Given the description of an element on the screen output the (x, y) to click on. 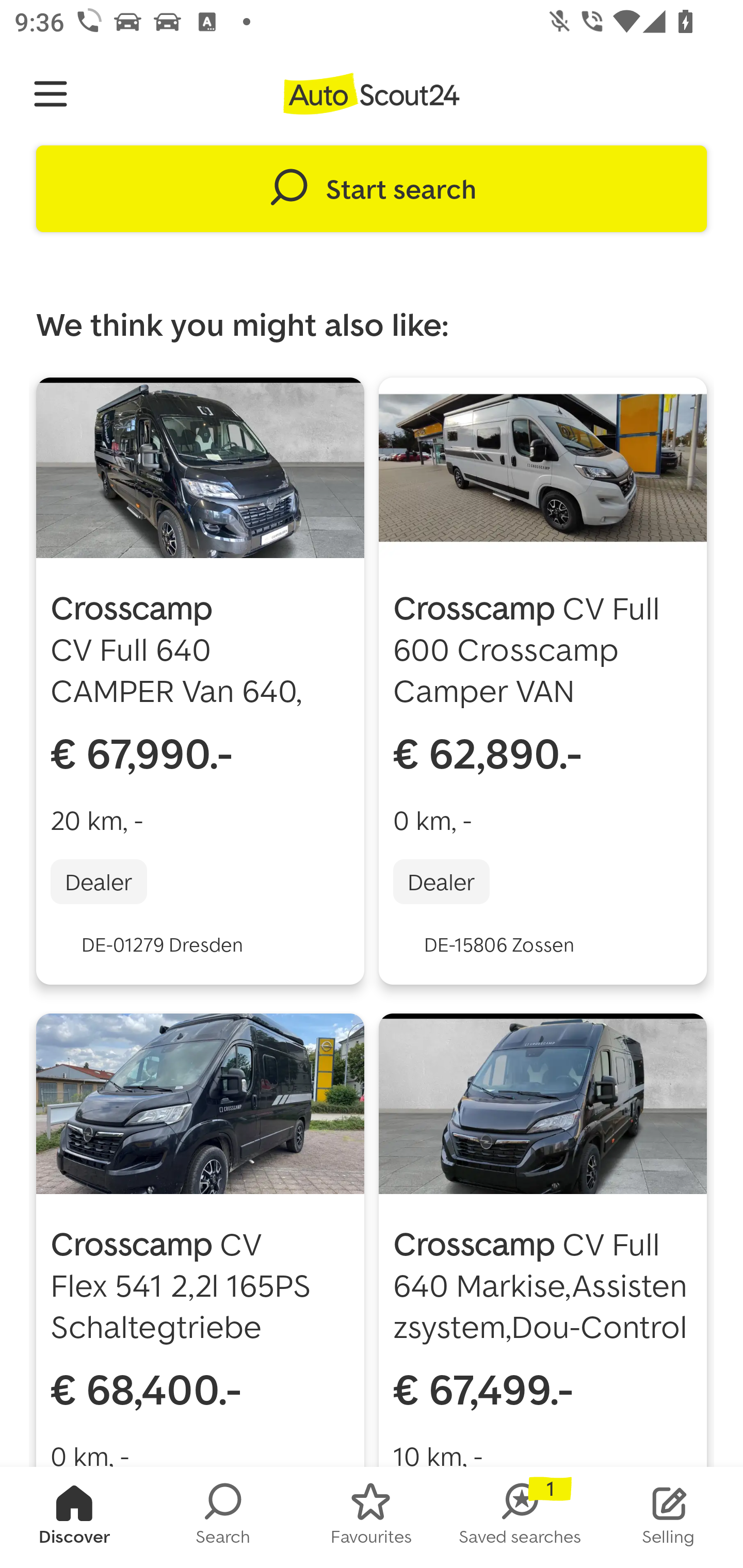
Navigate up (50, 93)
Start search (371, 188)
HOMESCREEN Discover (74, 1517)
SEARCH Search (222, 1517)
FAVORITES Favourites (371, 1517)
SAVED_SEARCHES Saved searches 1 (519, 1517)
STOCK_LIST Selling (668, 1517)
